Given the description of an element on the screen output the (x, y) to click on. 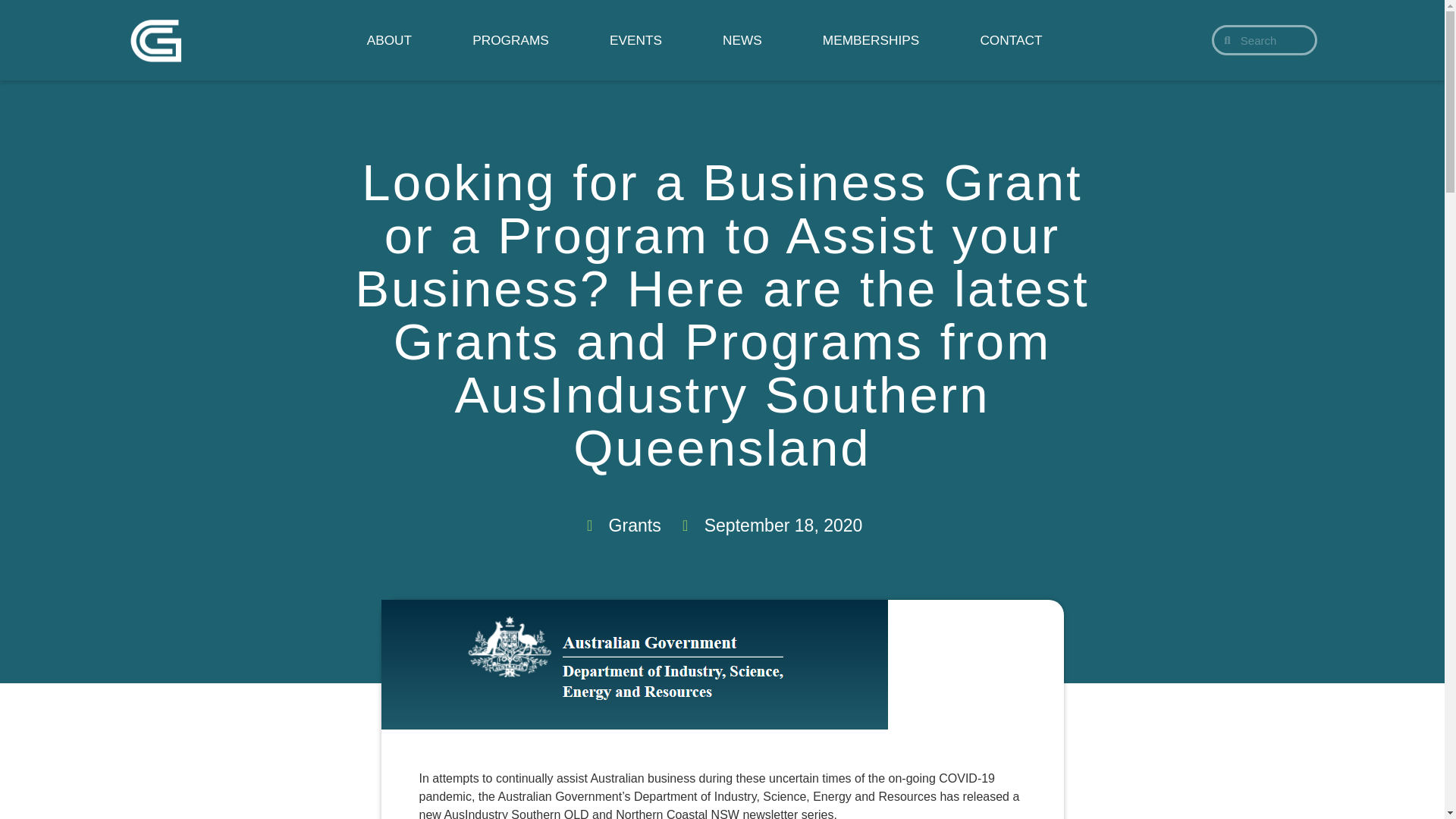
PROGRAMS (510, 40)
NEWS (742, 40)
September 18, 2020 (770, 525)
CONTACT (1010, 40)
ABOUT (389, 40)
EVENTS (635, 40)
Grants (634, 525)
MEMBERSHIPS (871, 40)
